Given the description of an element on the screen output the (x, y) to click on. 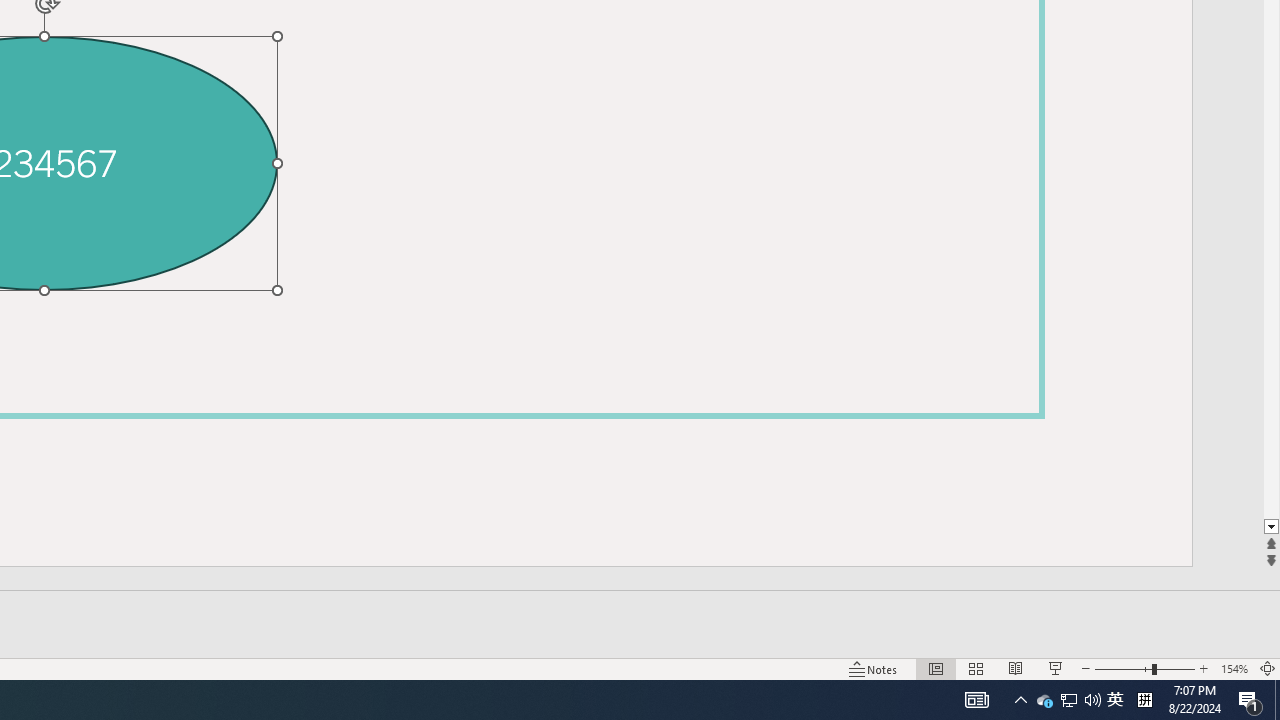
Zoom 154% (1234, 668)
